Given the description of an element on the screen output the (x, y) to click on. 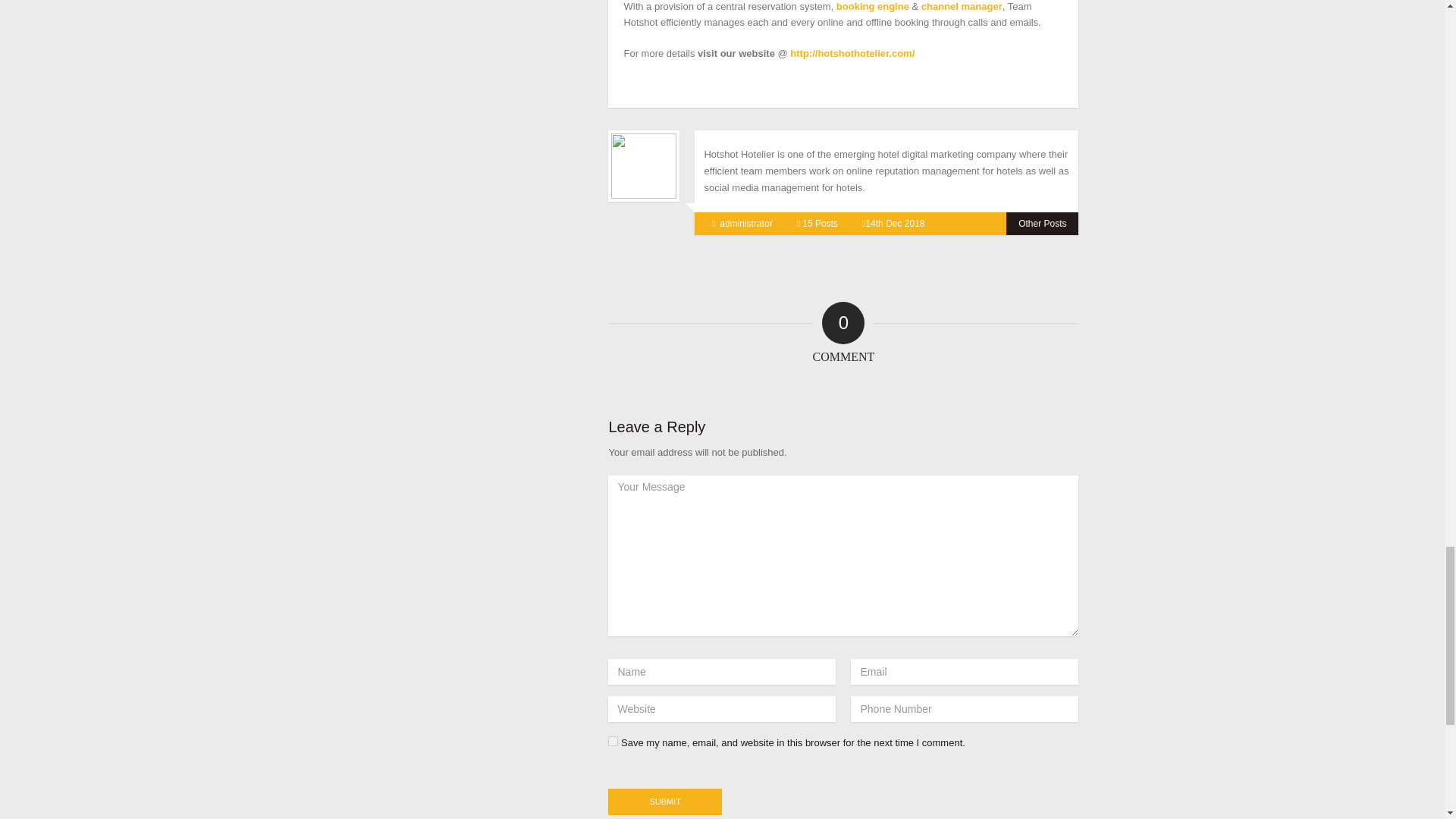
Submit (665, 801)
yes (612, 741)
